Given the description of an element on the screen output the (x, y) to click on. 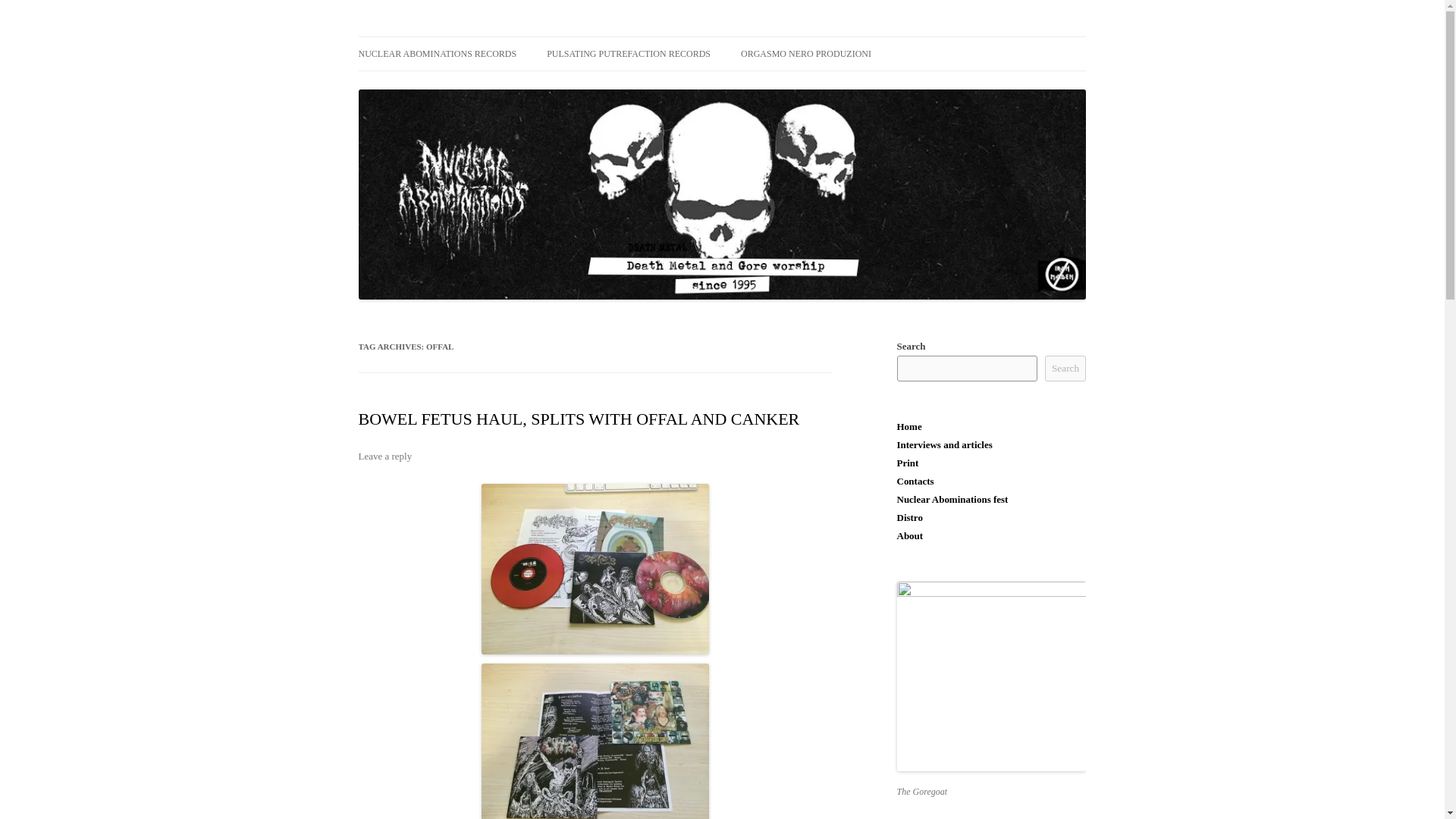
About (909, 535)
Interviews and articles (943, 444)
PULSATING PUTREFACTION RECORDS (628, 53)
Contacts (914, 480)
Print (907, 462)
NUCLEAR ABOMINATIONS RECORDS (437, 53)
Nuclear Abominations fest (951, 499)
ORGASMO NERO PRODUZIONI (805, 53)
BOWEL FETUS HAUL, SPLITS WITH OFFAL AND CANKER (578, 418)
Home (908, 426)
Distro (908, 517)
Leave a reply (385, 455)
Search (1065, 368)
